Given the description of an element on the screen output the (x, y) to click on. 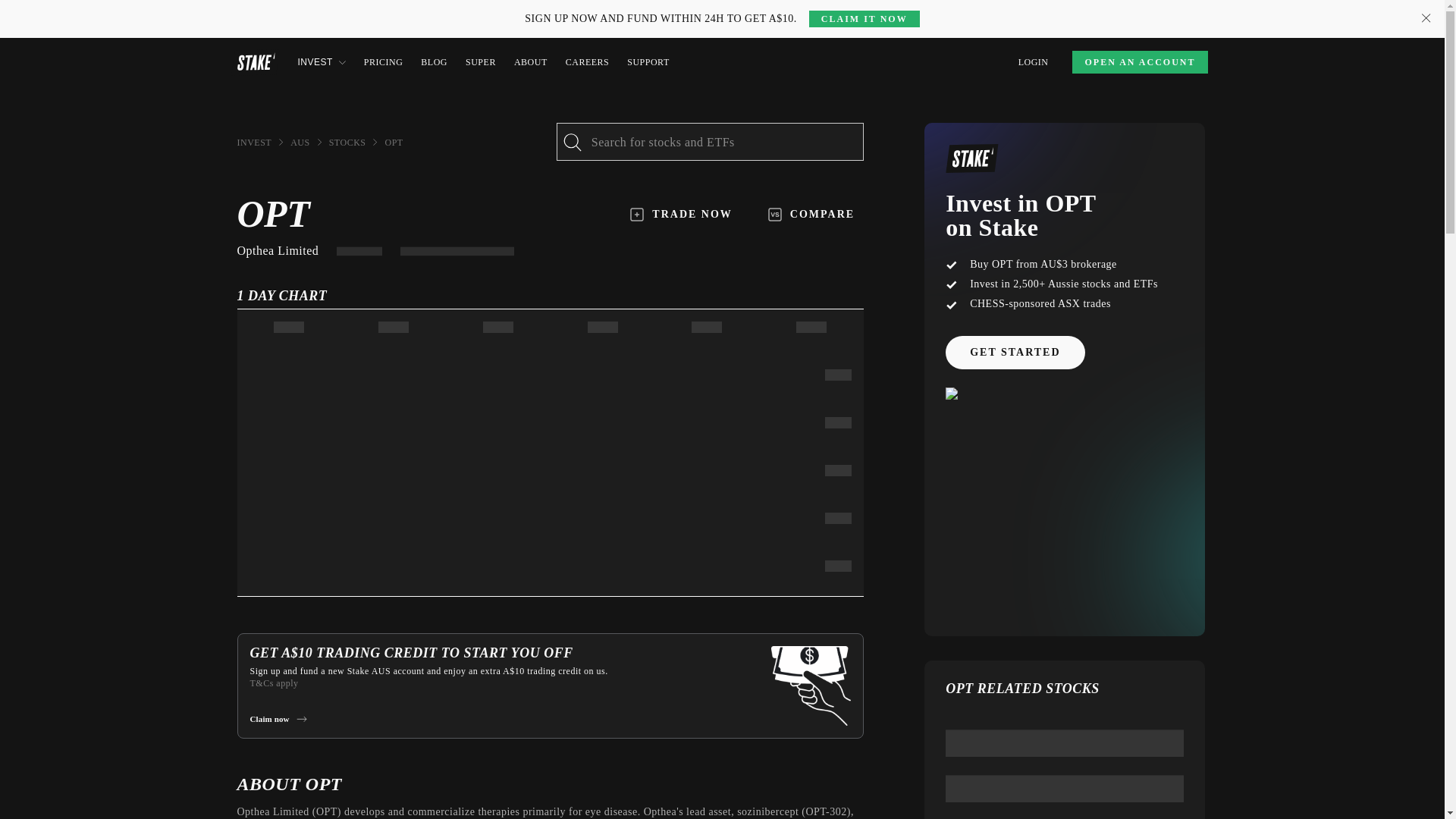
INVEST (321, 61)
STOCKS (347, 142)
OPT (393, 142)
LOGIN (1032, 61)
AUS (299, 142)
GET STARTED (1014, 352)
SUPER (480, 61)
COMPARE (811, 213)
SUPPORT (647, 61)
BLOG (433, 61)
